Given the description of an element on the screen output the (x, y) to click on. 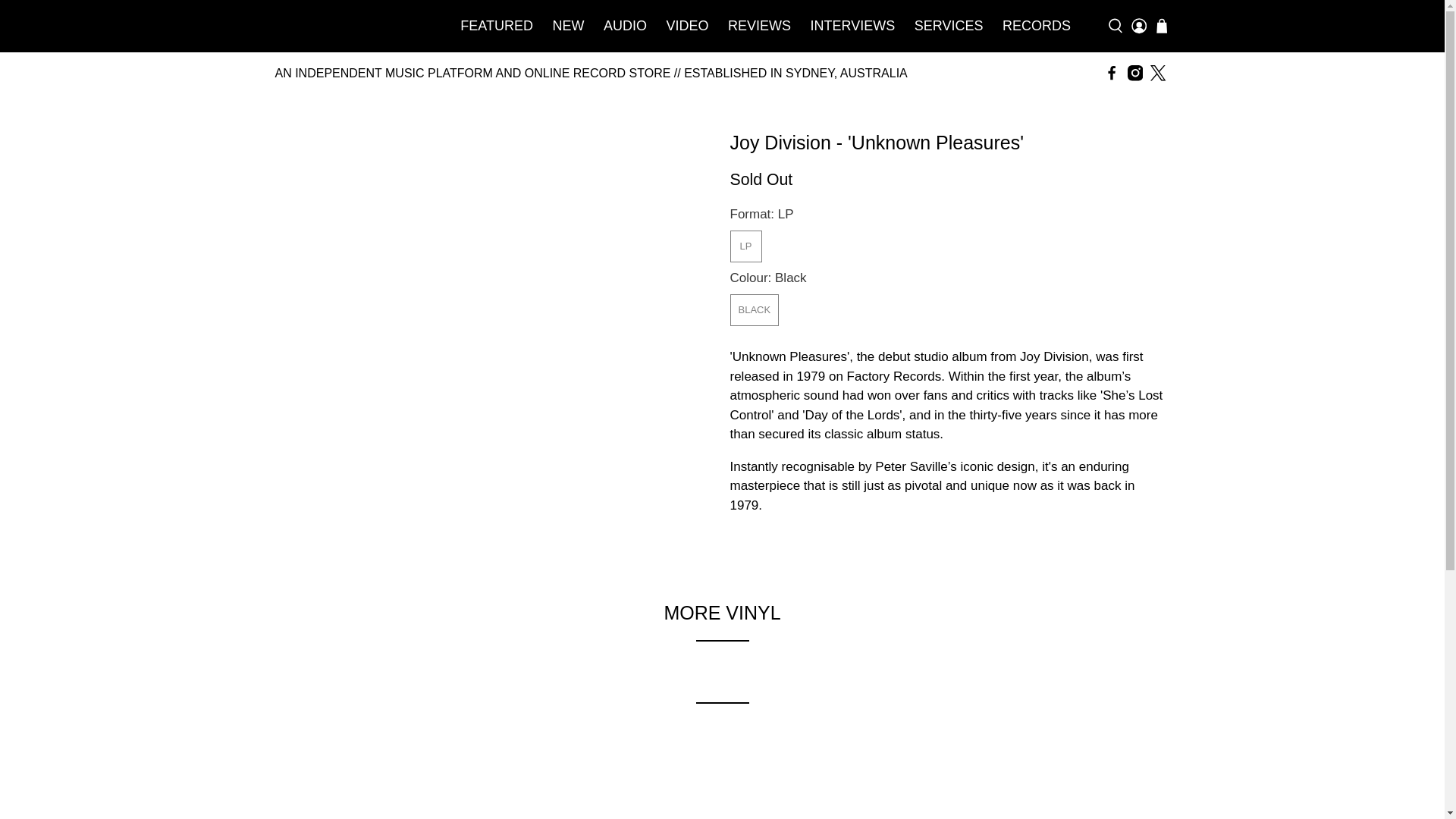
AUDIO (625, 26)
BROKEN 8 RECORDS on X (1158, 72)
BROKEN 8 RECORDS (349, 26)
FEATURED (497, 26)
NEW (568, 26)
VIDEO (687, 26)
SERVICES (948, 26)
BROKEN 8 RECORDS on Facebook (1111, 72)
REVIEWS (758, 26)
RECORDS (1036, 26)
